Given the description of an element on the screen output the (x, y) to click on. 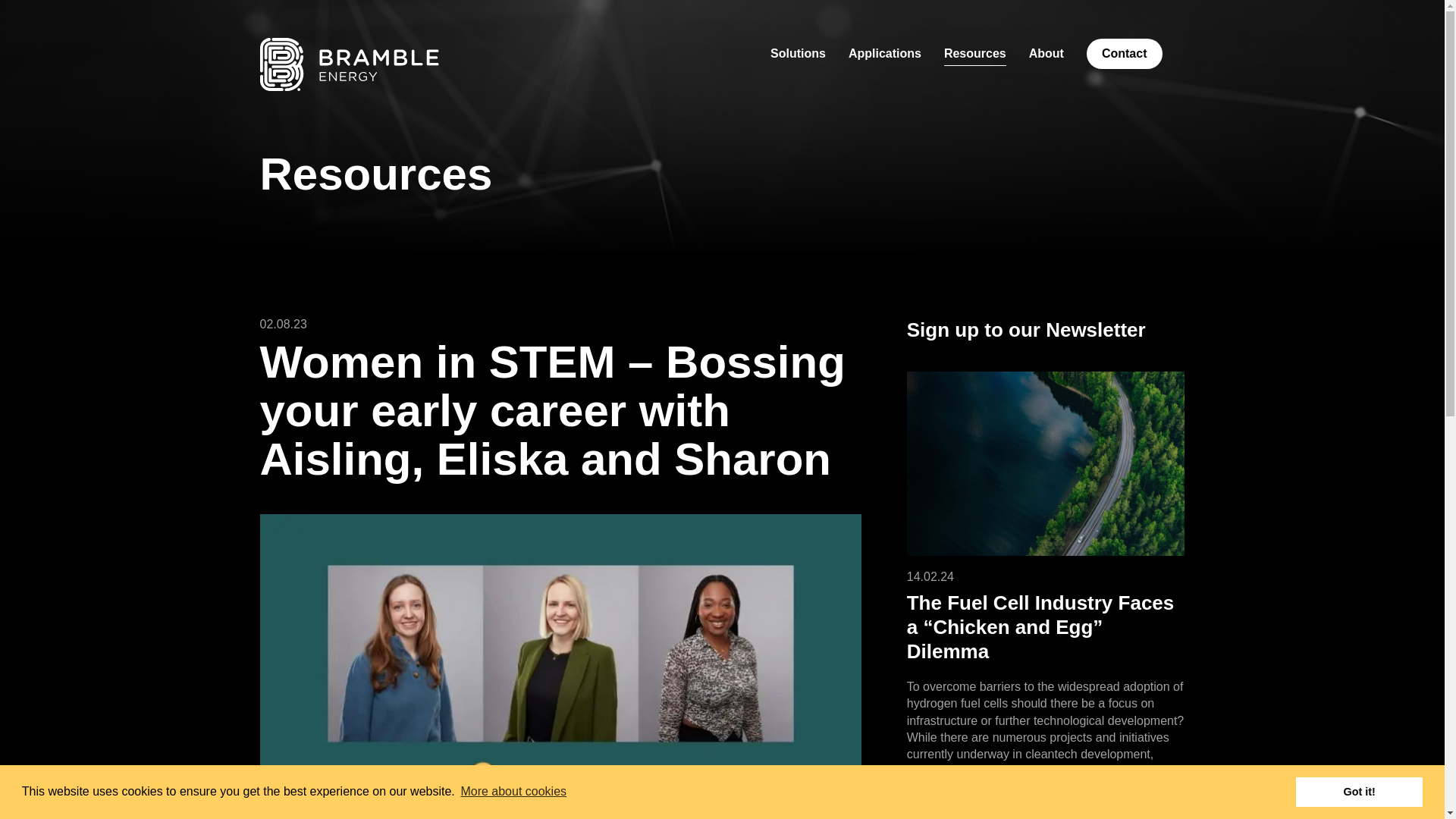
More about cookies (513, 791)
Resources (974, 53)
Got it! (1358, 791)
About (1046, 53)
Contact (1123, 53)
Applications (884, 53)
Solutions (797, 53)
